Given the description of an element on the screen output the (x, y) to click on. 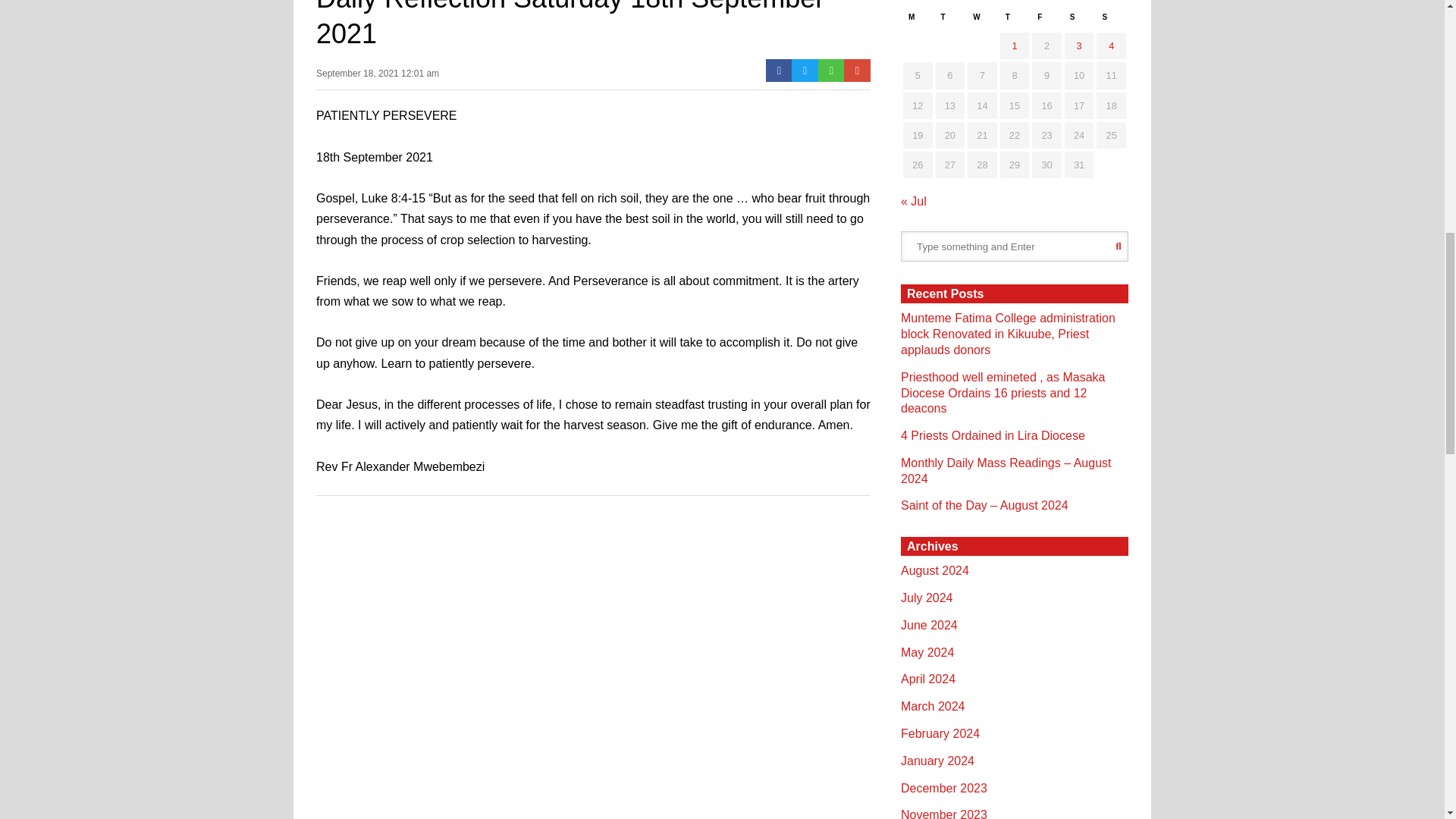
Facebook (778, 69)
E-mail (857, 69)
Whatsapp (831, 69)
Twitter (805, 69)
